Given the description of an element on the screen output the (x, y) to click on. 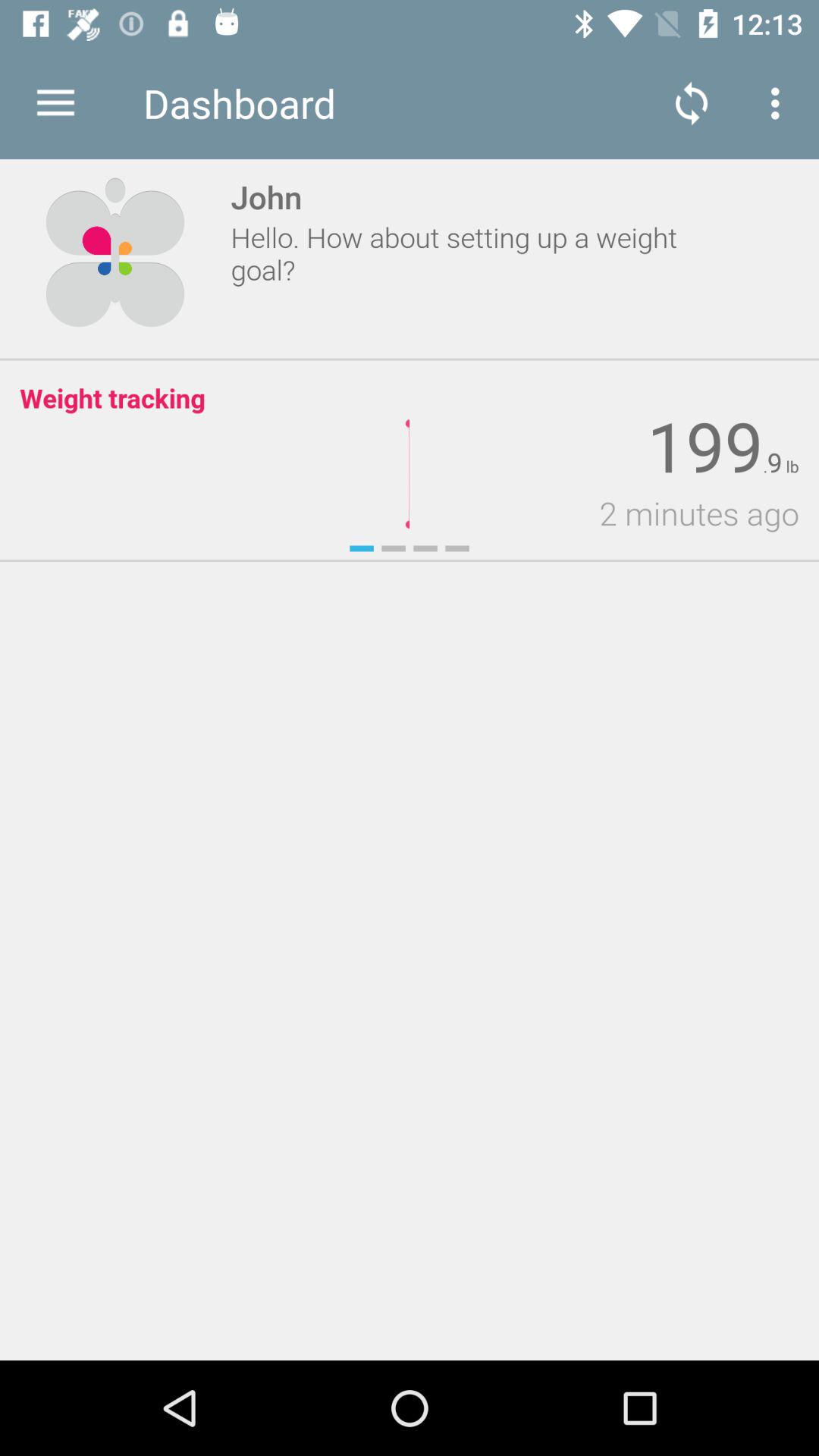
open icon to the right of 9 item (790, 466)
